Given the description of an element on the screen output the (x, y) to click on. 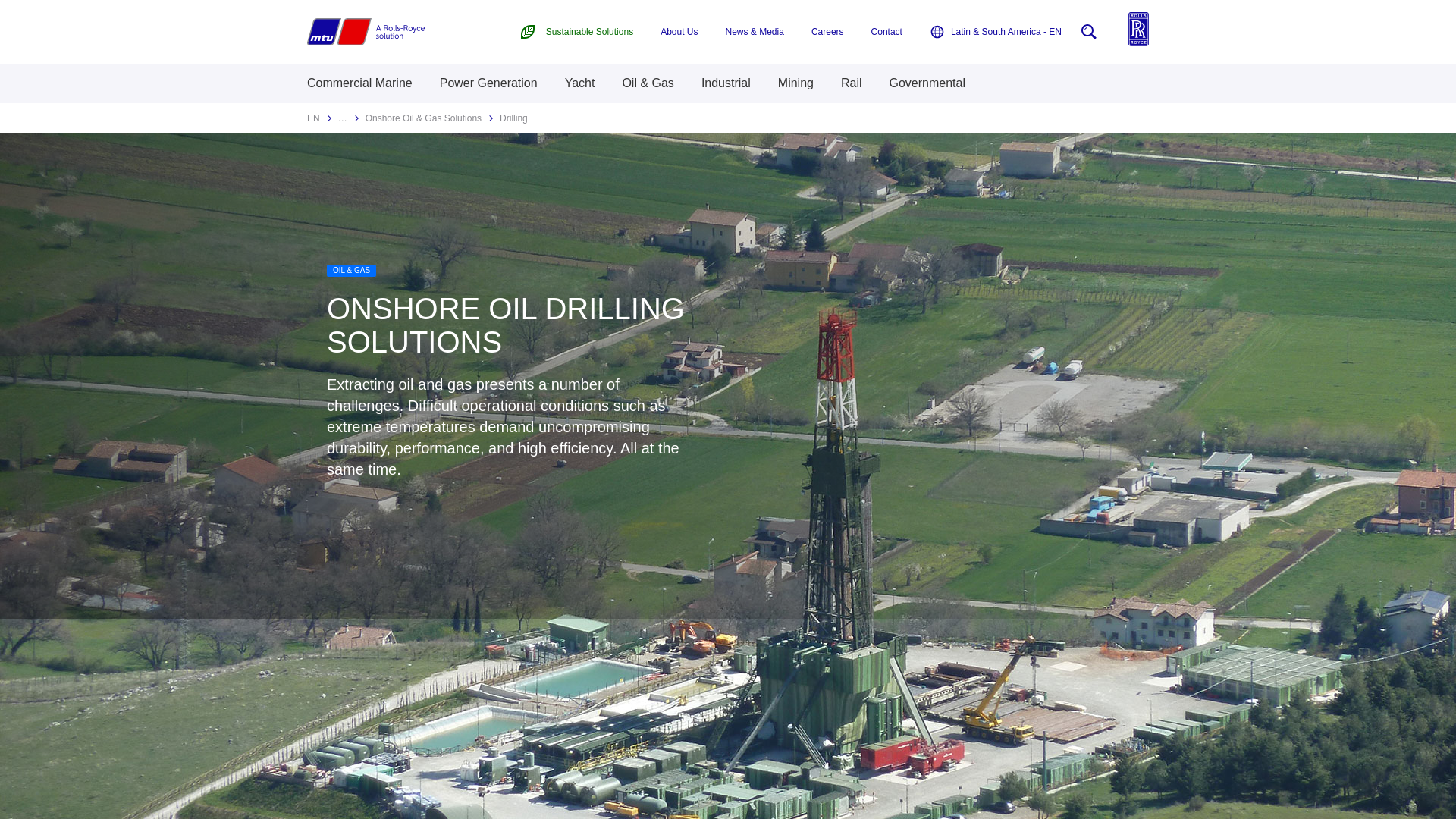
Home (366, 31)
Commercial Marine (360, 83)
